Given the description of an element on the screen output the (x, y) to click on. 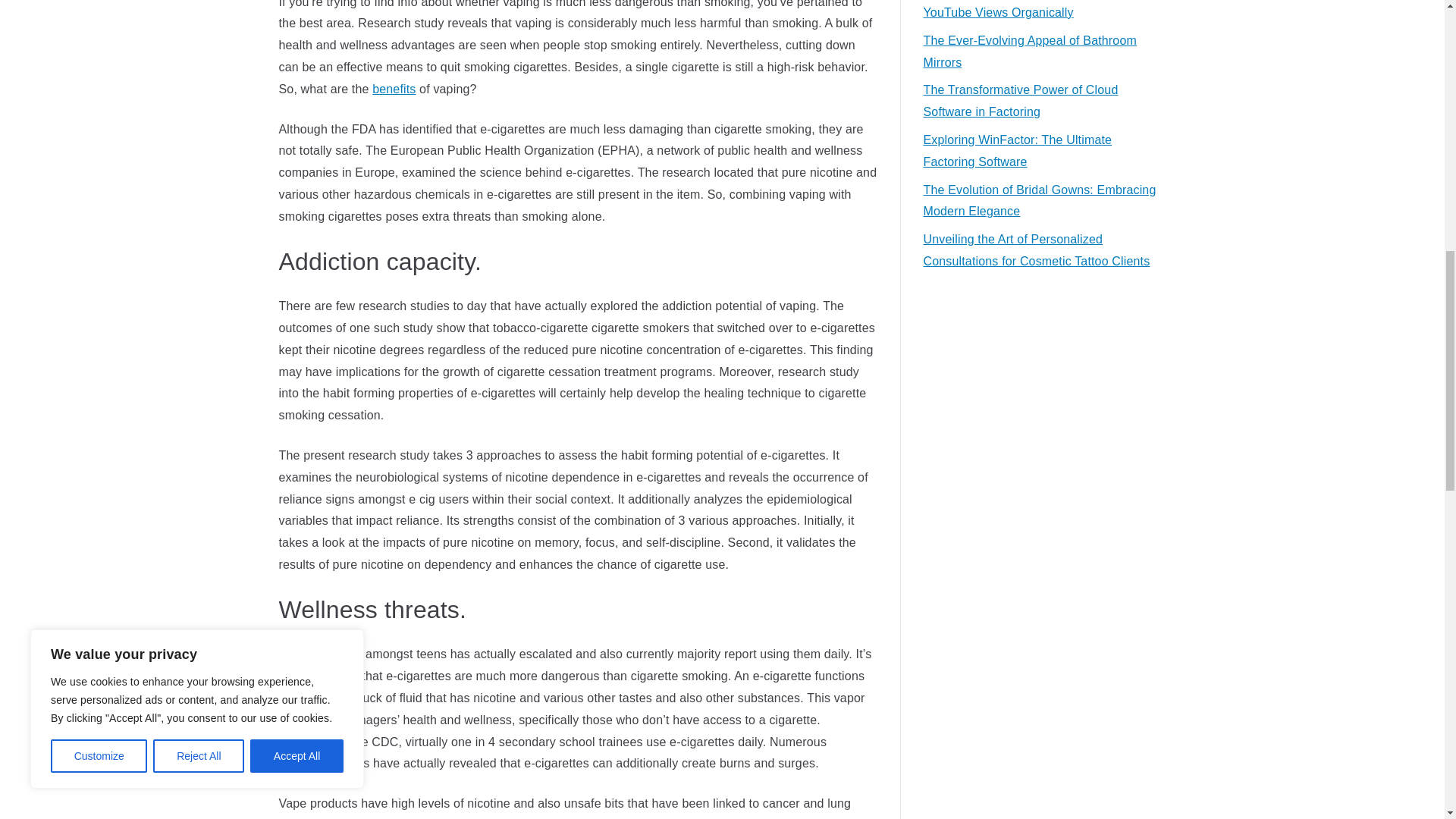
benefits (393, 88)
